Given the description of an element on the screen output the (x, y) to click on. 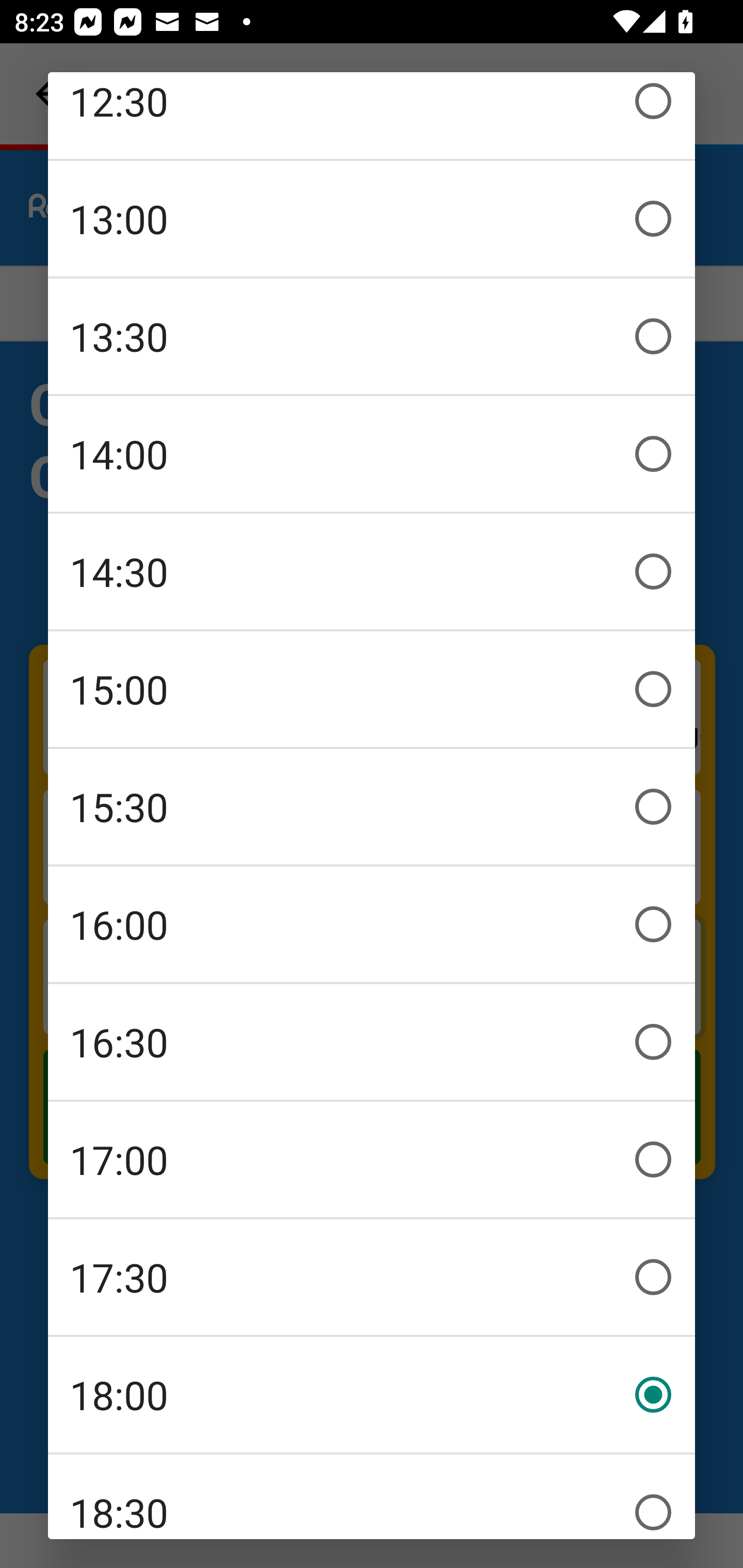
12:30 (371, 115)
13:00 (371, 218)
13:30 (371, 336)
14:00 (371, 453)
14:30 (371, 571)
15:00 (371, 688)
15:30 (371, 806)
16:00 (371, 924)
16:30 (371, 1041)
17:00 (371, 1159)
17:30 (371, 1276)
18:00 (371, 1394)
18:30 (371, 1497)
